Given the description of an element on the screen output the (x, y) to click on. 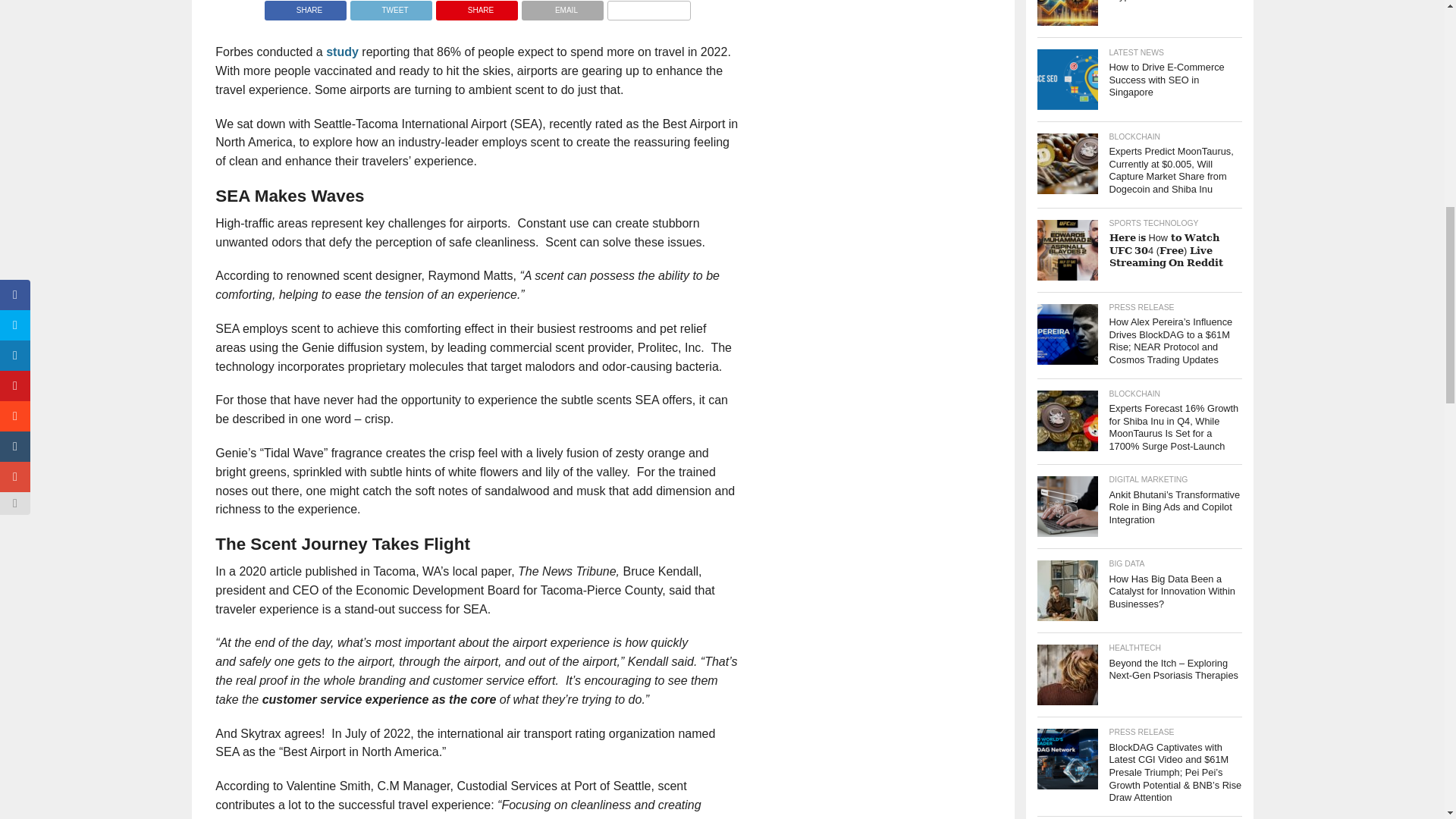
Pin This Post (476, 6)
Tweet This Post (390, 6)
Share on Facebook (305, 6)
